Given the description of an element on the screen output the (x, y) to click on. 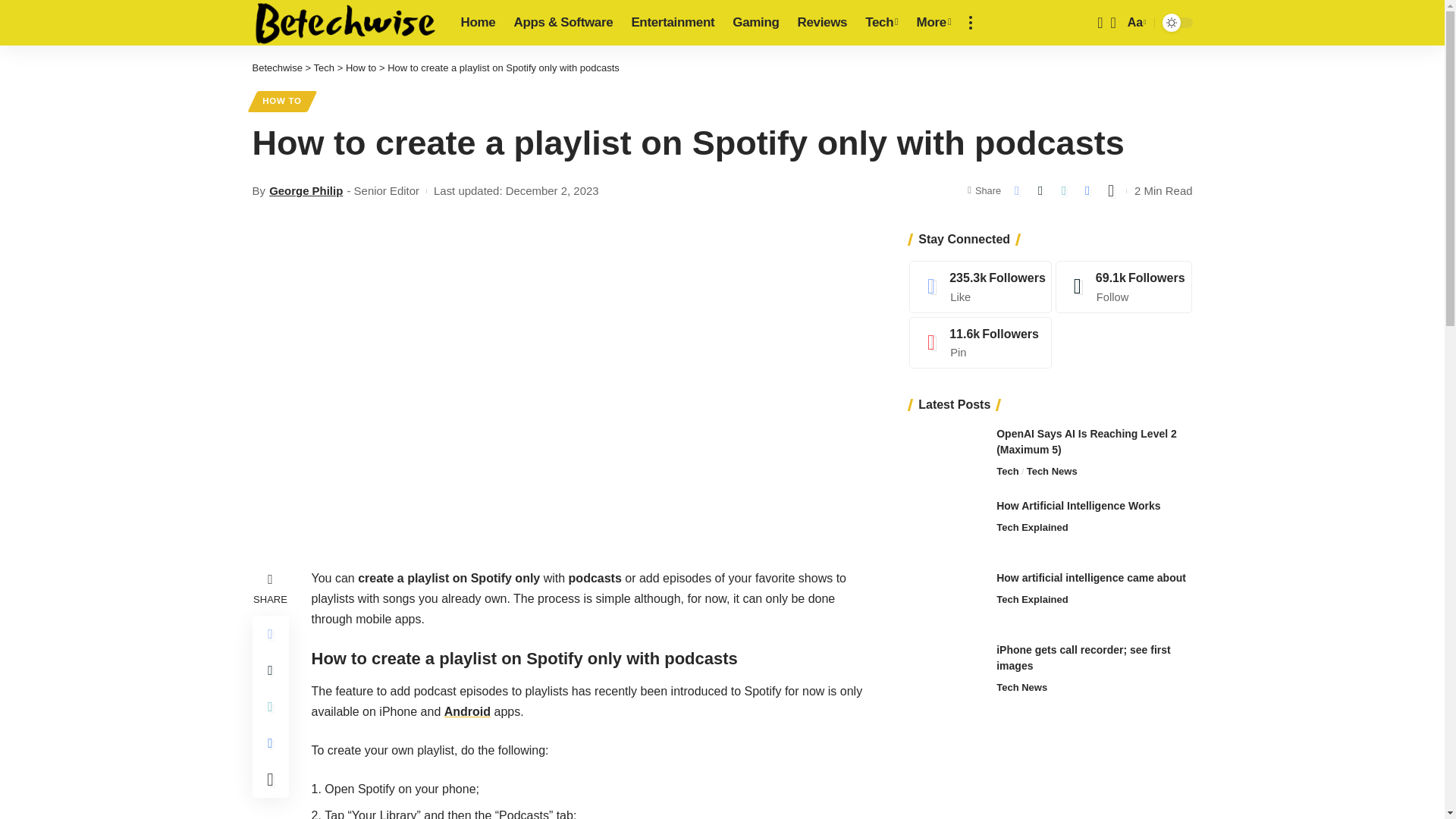
Tech (881, 22)
Go to the How to Category archives. (360, 67)
How artificial intelligence came about (946, 598)
More (933, 22)
How Artificial Intelligence Works (946, 526)
Home (478, 22)
Go to the Tech Category archives. (324, 67)
Betechwise (343, 22)
Aa (1135, 22)
Entertainment (672, 22)
Reviews (823, 22)
Gaming (755, 22)
iPhone gets call recorder; see first images (946, 670)
Go to Betechwise. (276, 67)
